Given the description of an element on the screen output the (x, y) to click on. 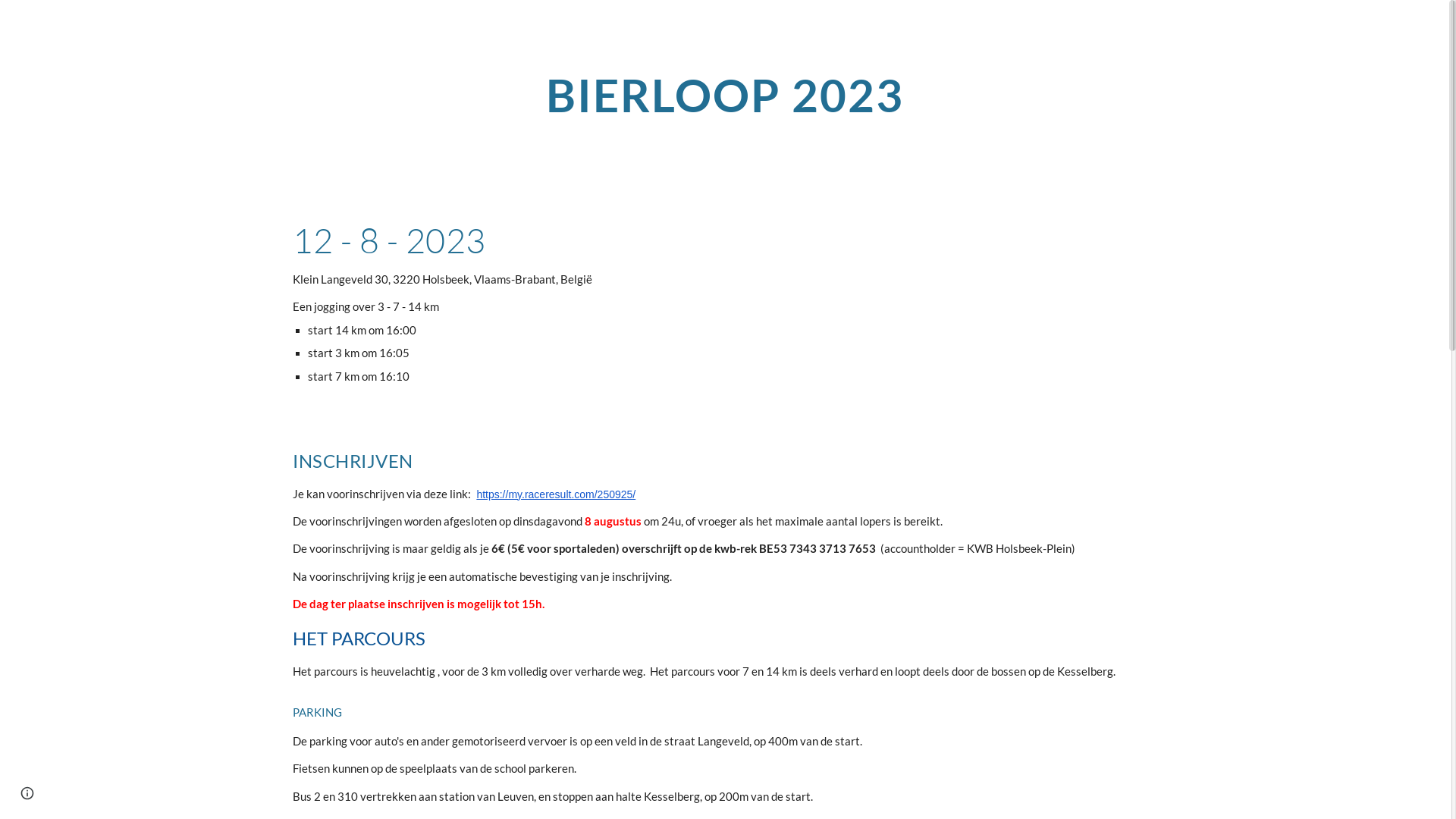
https://my.raceresult.com/250925/ Element type: text (555, 492)
